Given the description of an element on the screen output the (x, y) to click on. 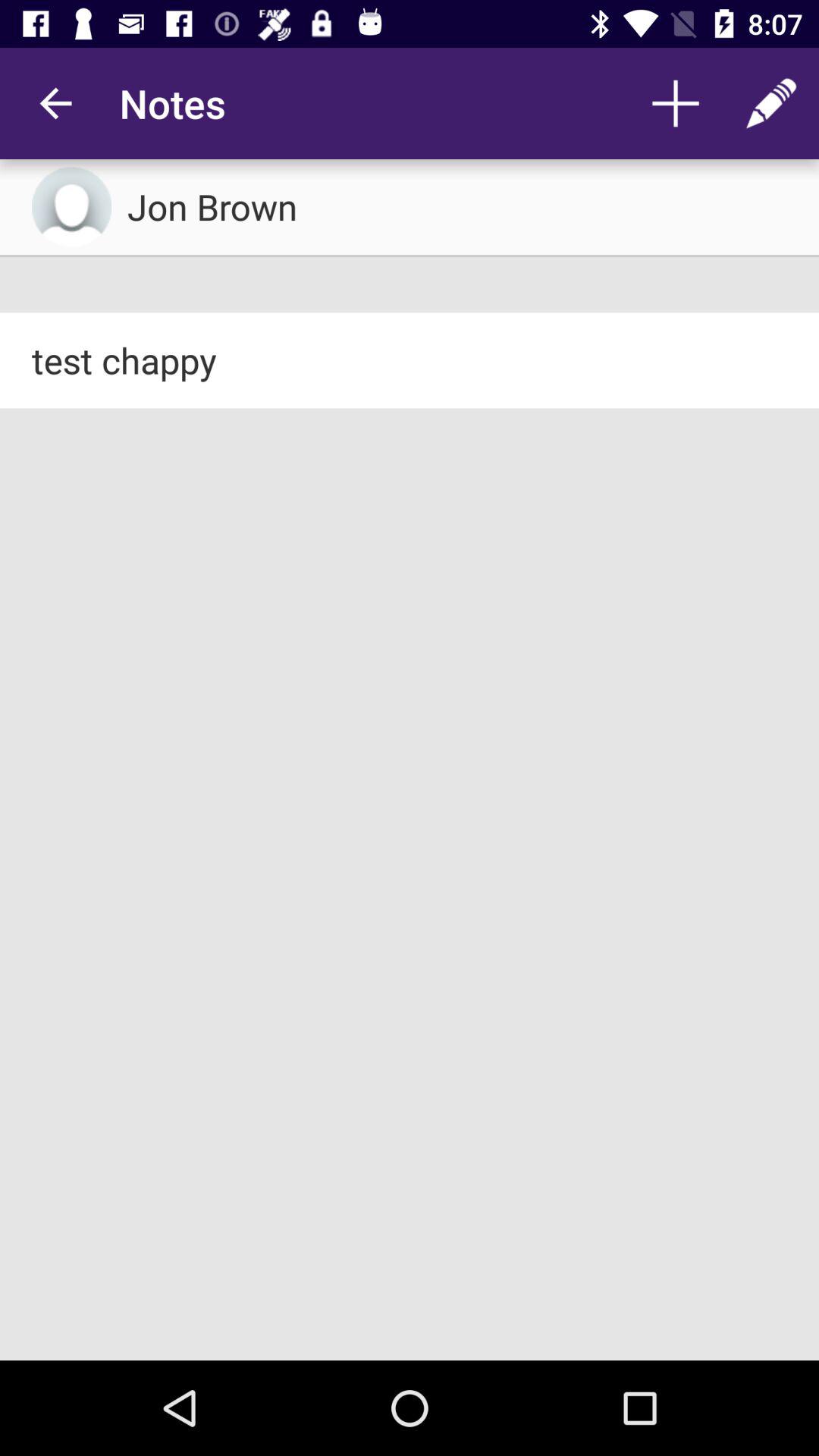
choose the app next to the notes item (55, 103)
